Given the description of an element on the screen output the (x, y) to click on. 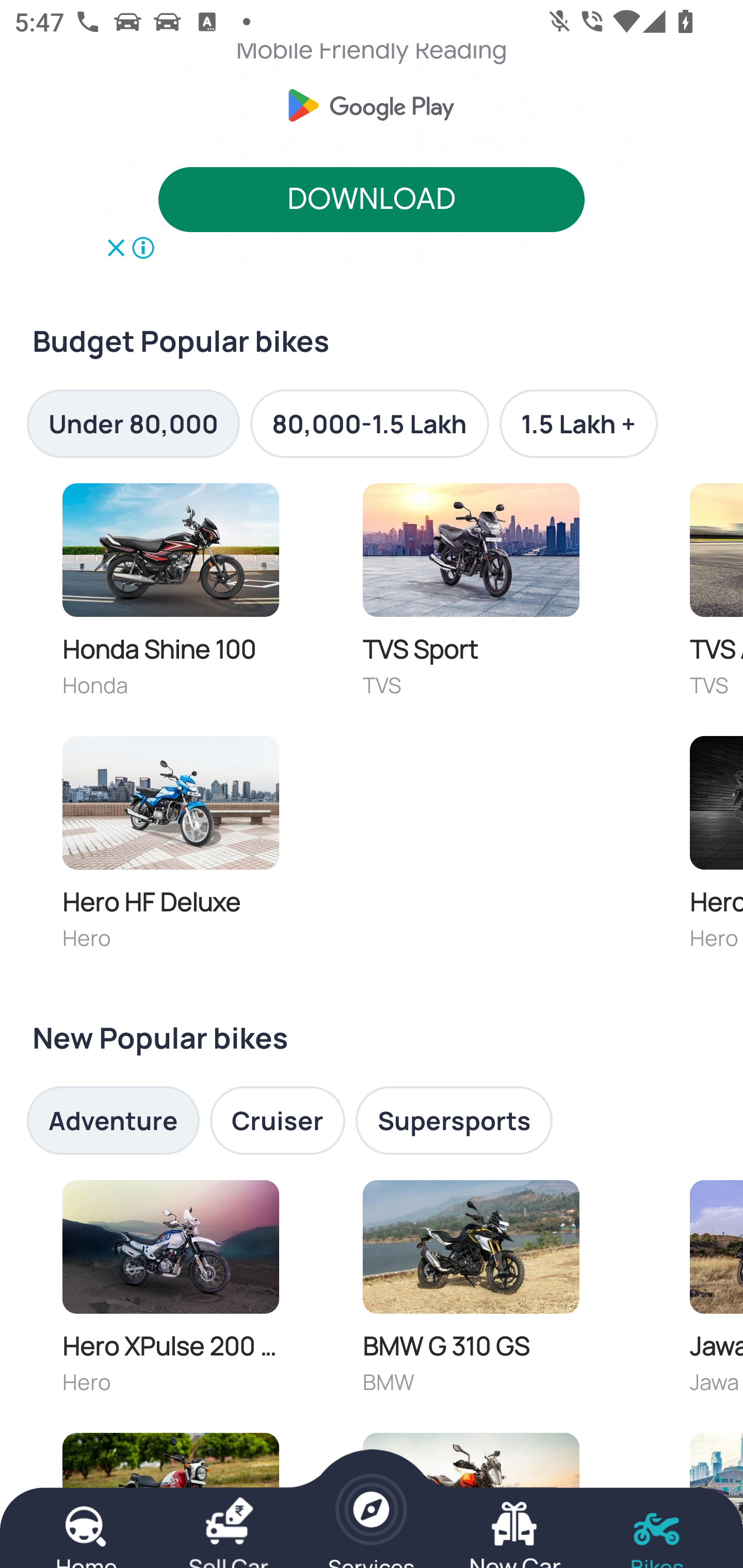
DOWNLOAD (371, 199)
80,000-1.5 Lakh (369, 422)
1.5 Lakh + (578, 422)
Honda Shine 100 Honda (170, 594)
TVS Sport TVS (470, 594)
Hero HF Deluxe Hero (170, 847)
Cruiser (277, 1120)
Supersports (453, 1120)
Hero XPulse 200 4V Hero (170, 1291)
BMW G 310 GS BMW (470, 1291)
